Given the description of an element on the screen output the (x, y) to click on. 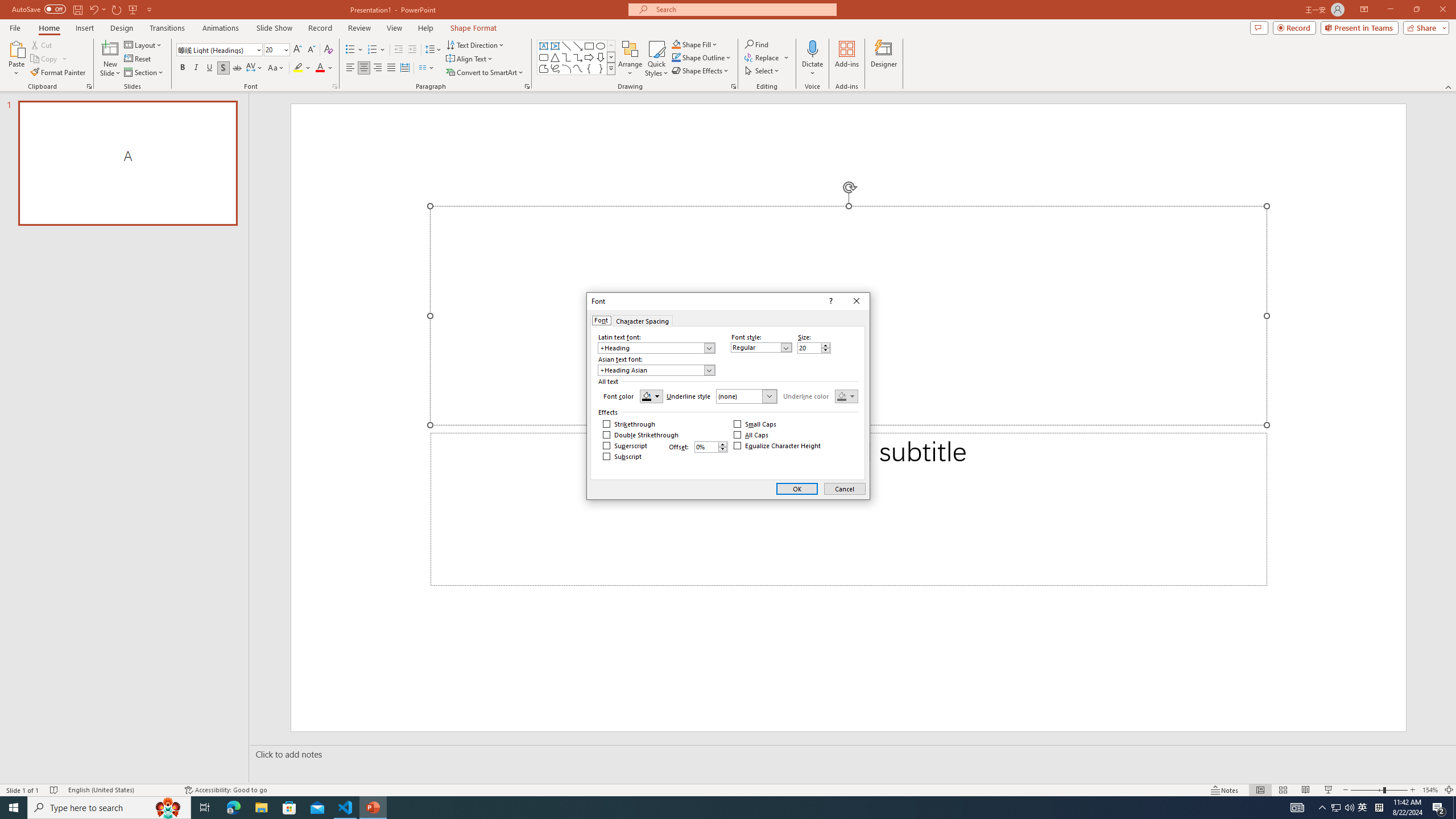
Equalize Character Height (777, 445)
